Given the description of an element on the screen output the (x, y) to click on. 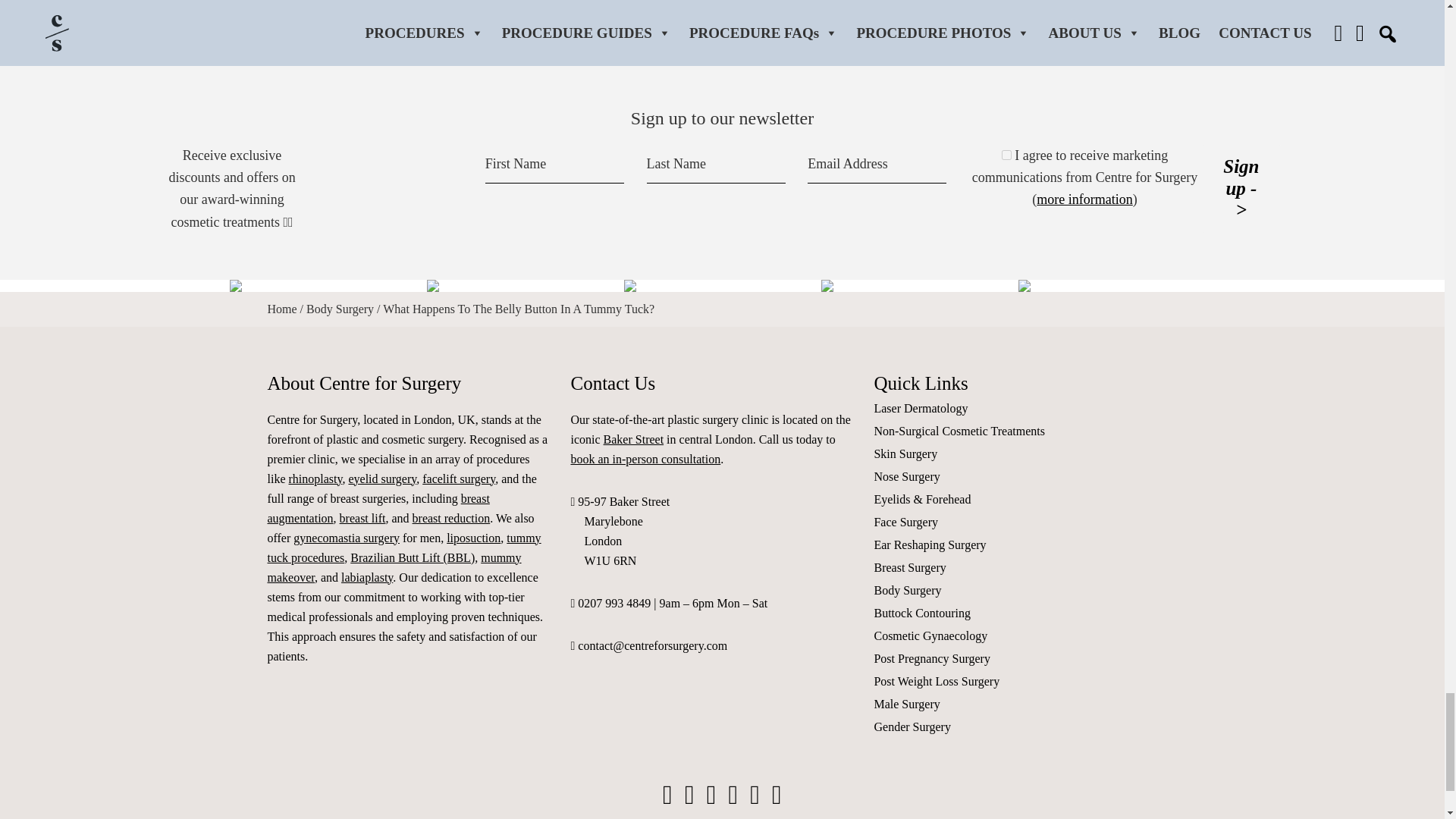
1 (1006, 154)
